Given the description of an element on the screen output the (x, y) to click on. 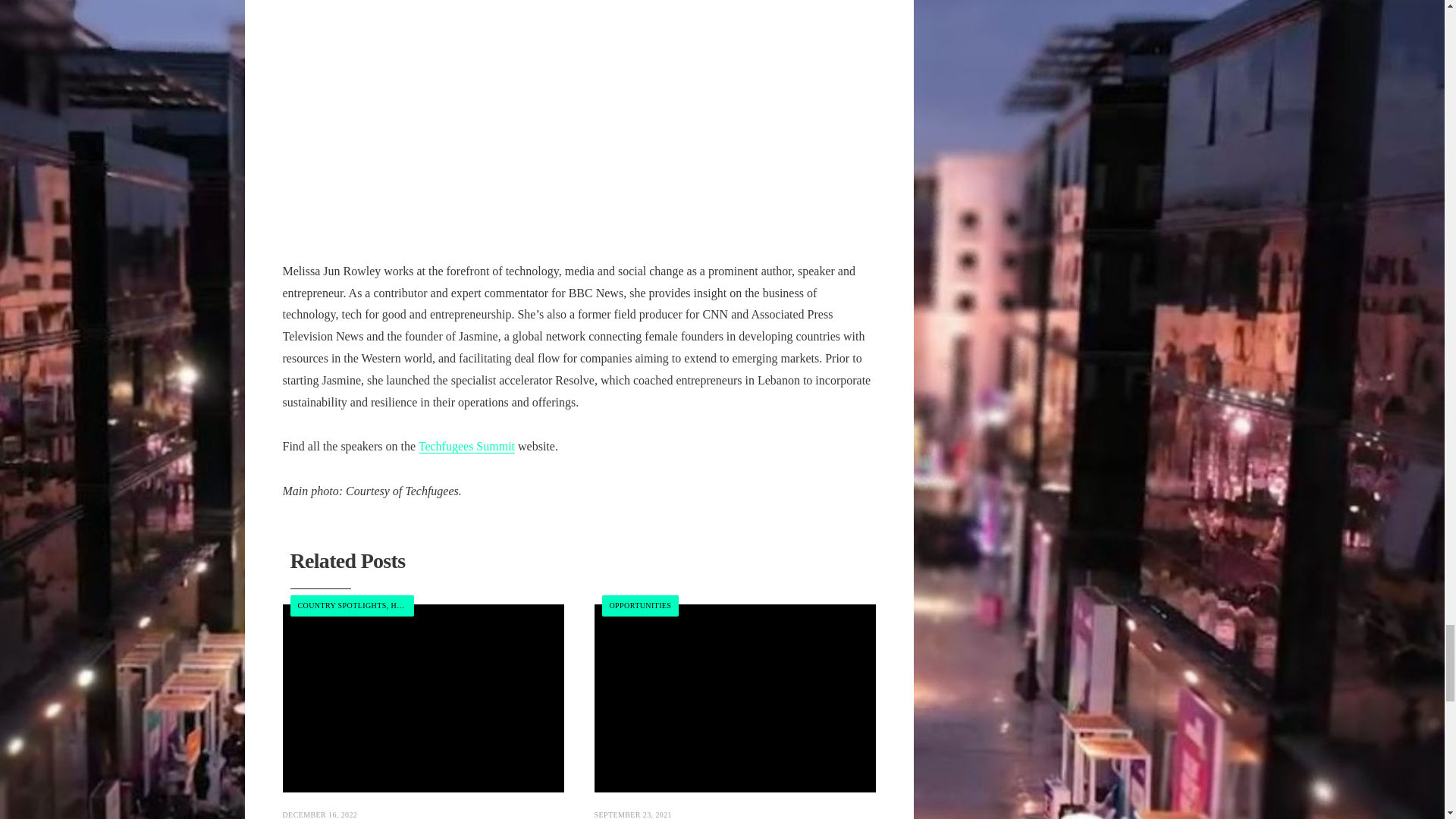
HACKS (403, 605)
Techfugees Summit (467, 446)
COUNTRY SPOTLIGHTS (341, 605)
OPPORTUNITIES (640, 605)
